Given the description of an element on the screen output the (x, y) to click on. 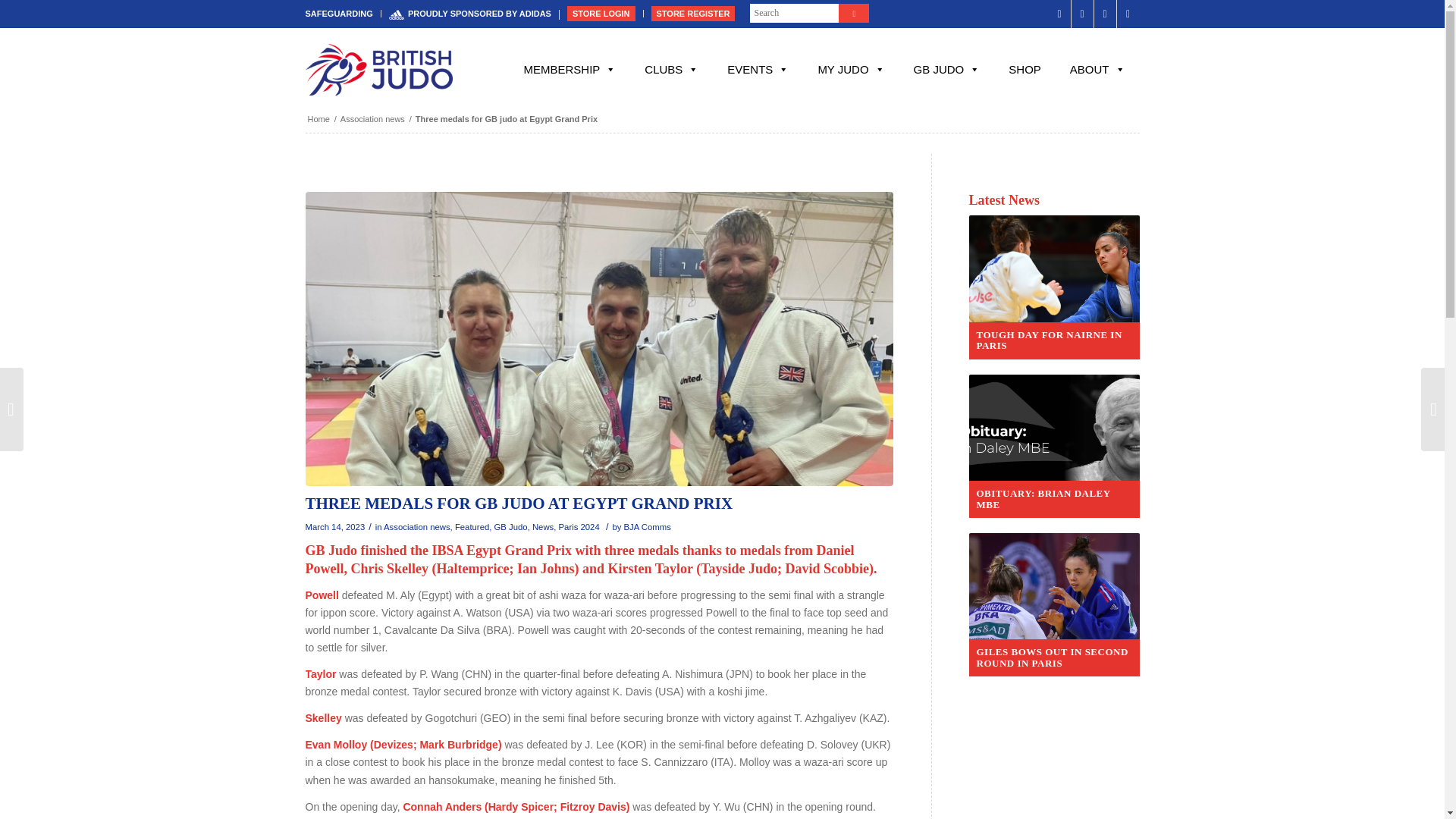
PROUDLY SPONSORED BY ADIDAS (469, 13)
SAFEGUARDING (338, 13)
MY JUDO (850, 69)
MEMBERSHIP (569, 69)
British Judo (317, 119)
STORE REGISTER (692, 13)
STORE LOGIN (600, 13)
EVENTS (758, 69)
Posts by BJA Comms (646, 526)
CLUBS (671, 69)
Permanent Link: Three medals for GB judo at Egypt Grand Prix (518, 503)
